Given the description of an element on the screen output the (x, y) to click on. 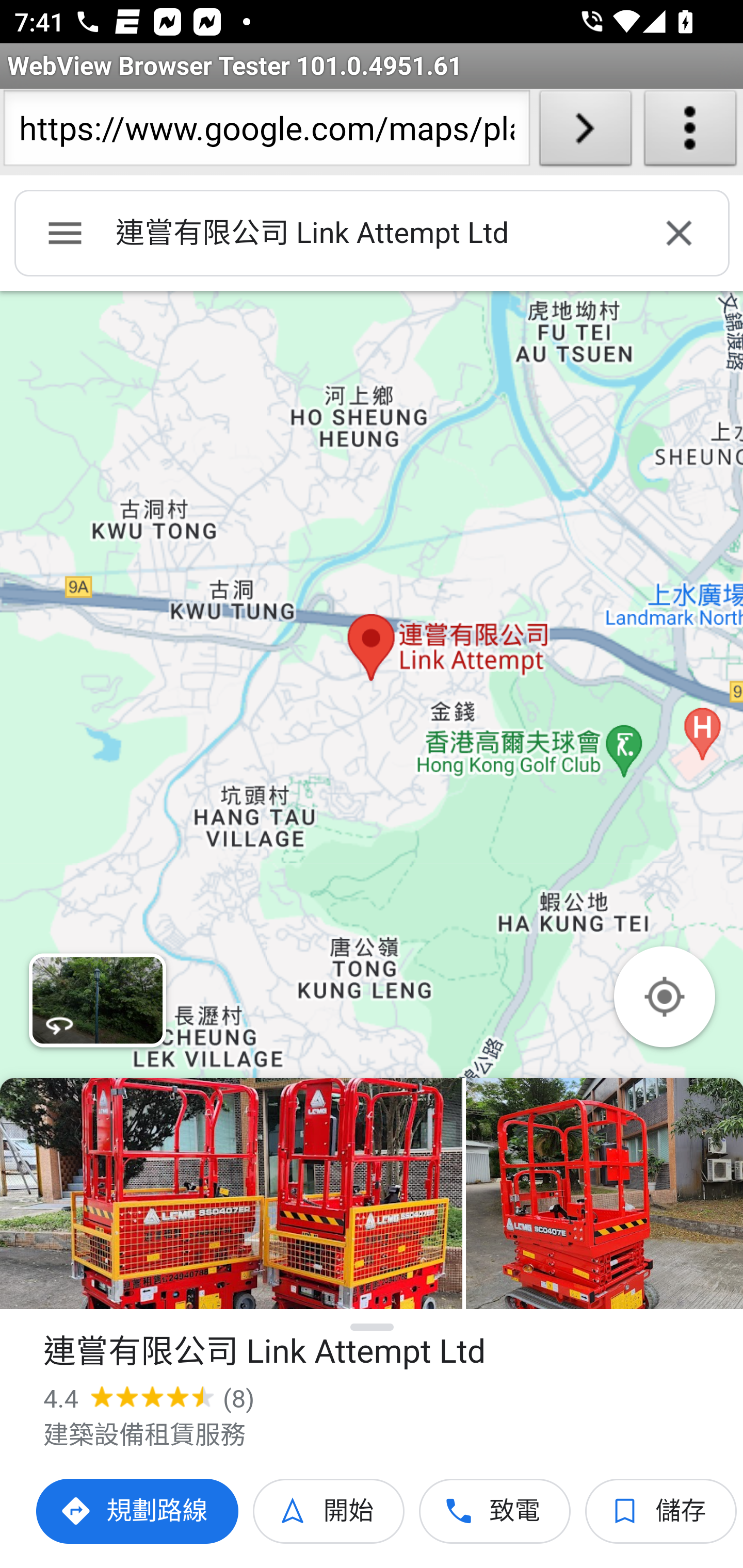
Load URL (585, 132)
About WebView (690, 132)
第 1 張相片 (共 9 張) (231, 1193)
第 2 張相片 (共 9 張) (604, 1193)
顯示詳細資料 (372, 1327)
前往連嘗有限公司 Link Attempt Ltd的路線 (137, 1511)
開始 (329, 1511)
致電「連嘗有限公司 Link Attempt Ltd」  致電 (495, 1511)
將「連嘗有限公司 Link Attempt Ltd」儲存至清單中 (661, 1511)
